Given the description of an element on the screen output the (x, y) to click on. 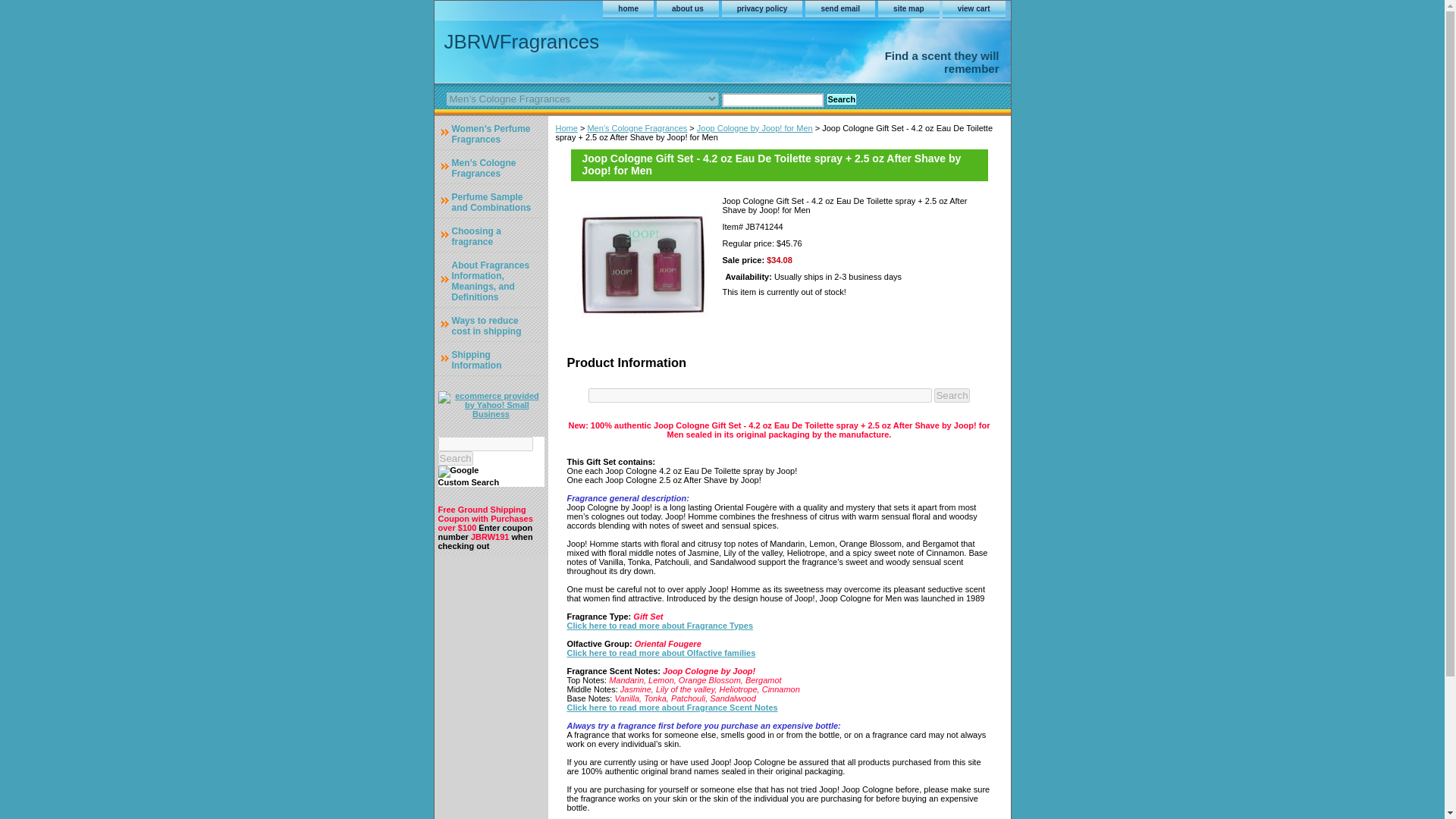
Ways to reduce cost in shipping (486, 324)
Shipping Information (486, 358)
Perfume Sample and Combinations (486, 200)
about us (687, 9)
Click here to read more about Olfactive families (661, 651)
Search (841, 99)
privacy policy (762, 9)
Search (455, 457)
view cart (974, 9)
Home (565, 126)
